Given the description of an element on the screen output the (x, y) to click on. 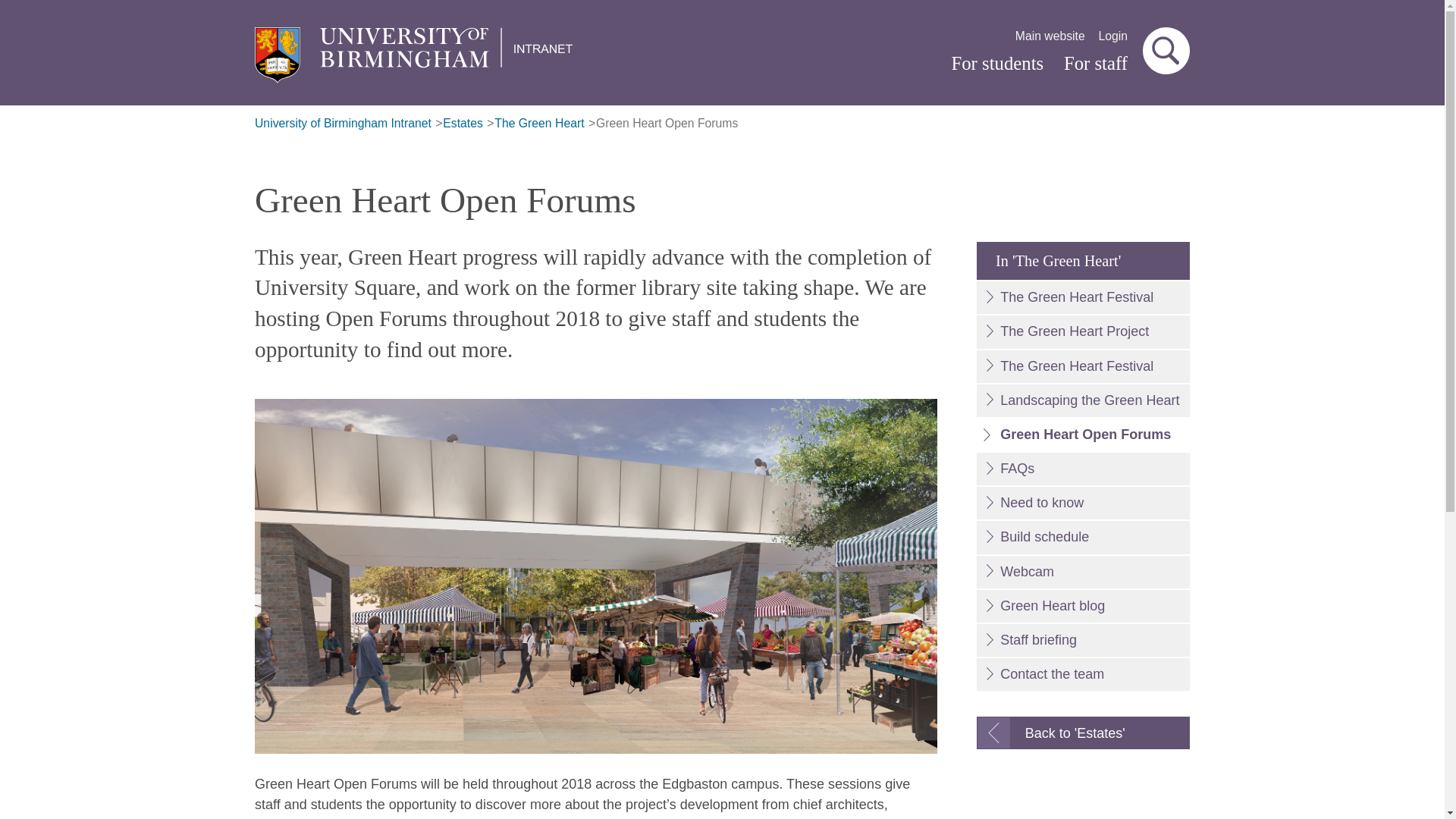
The Green Heart Project (1082, 331)
Login (1112, 36)
For students (996, 63)
Contact the team (1082, 674)
Green Heart Open Forums (1082, 434)
The Green Heart Festival (1082, 366)
Build schedule (1082, 536)
Need to know (1082, 502)
Webcam (1082, 572)
Landscaping the Green Heart (1082, 400)
Staff briefing (1082, 640)
For staff (1095, 63)
Search (1165, 50)
The Green Heart Festival (1082, 297)
Green Heart Open Forums (666, 123)
